Given the description of an element on the screen output the (x, y) to click on. 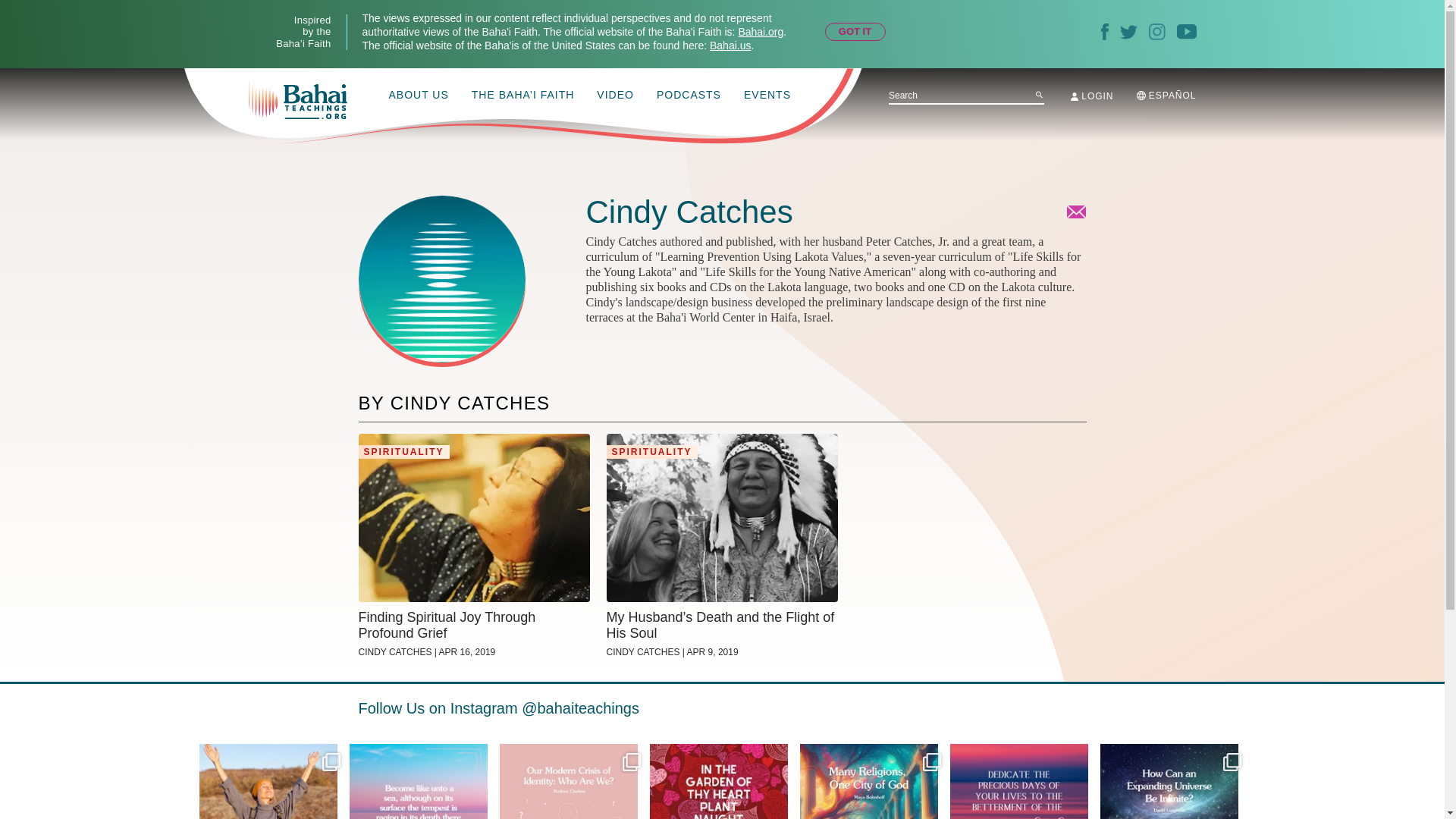
EVENTS (767, 96)
Bahai.us (730, 45)
Finding Spiritual Joy Through Profound Grief (473, 625)
PODCASTS (688, 96)
Bahai.org (760, 31)
GOT IT (855, 31)
SPIRITUALITY (403, 451)
VIDEO (614, 96)
ABOUT US (418, 96)
SPIRITUALITY (652, 451)
LOGIN (1092, 95)
Search for: (965, 95)
Search (1038, 94)
